Given the description of an element on the screen output the (x, y) to click on. 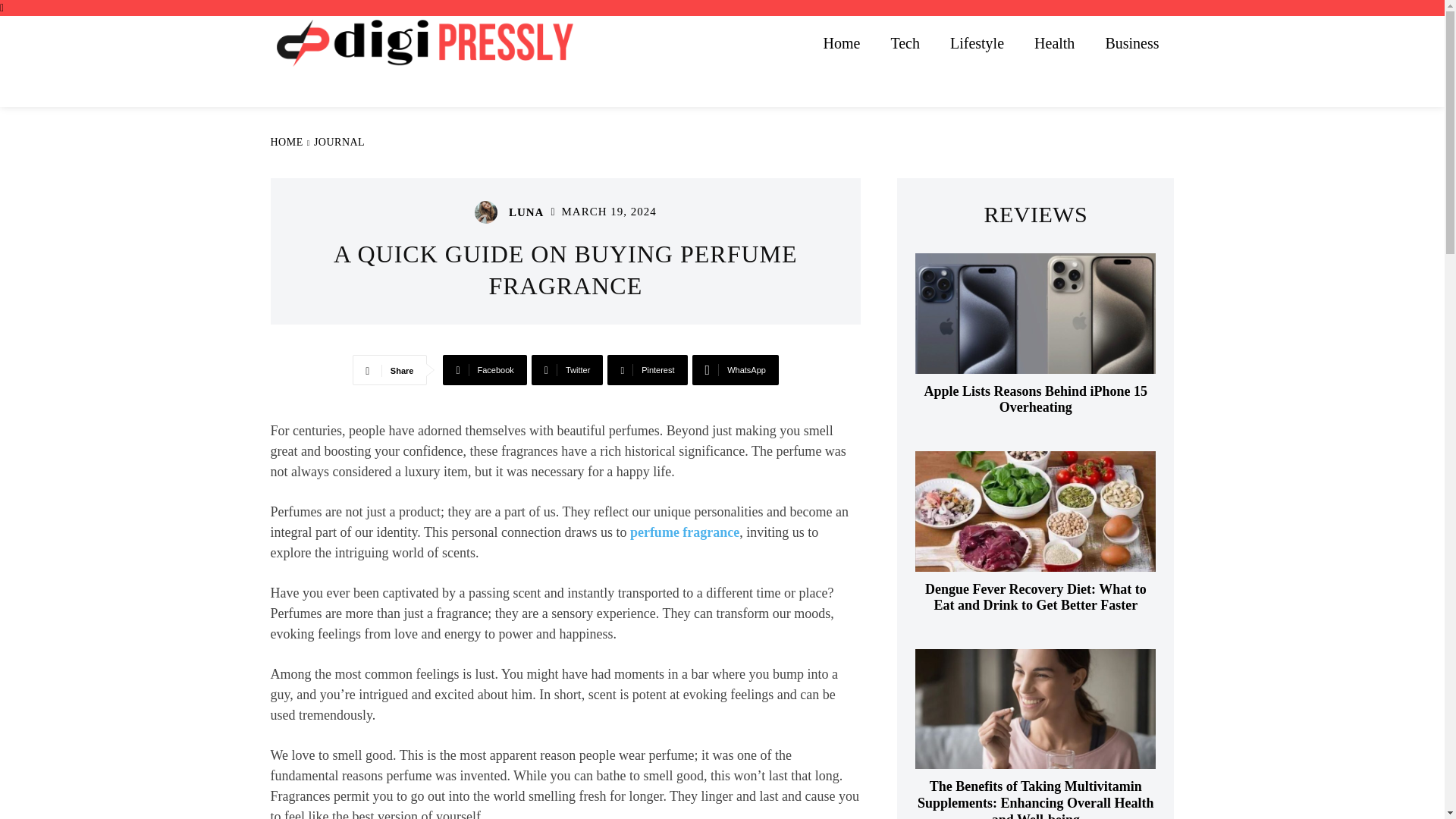
Home (842, 42)
perfume fragrance (684, 531)
Tech (904, 42)
Facebook (483, 369)
Luna (489, 211)
Twitter (567, 369)
Apple Lists Reasons Behind iPhone 15 Overheating (1035, 313)
Twitter (567, 369)
Business (1131, 42)
HOME (285, 142)
Pinterest (647, 369)
WhatsApp (735, 369)
LUNA (526, 211)
WhatsApp (735, 369)
